Given the description of an element on the screen output the (x, y) to click on. 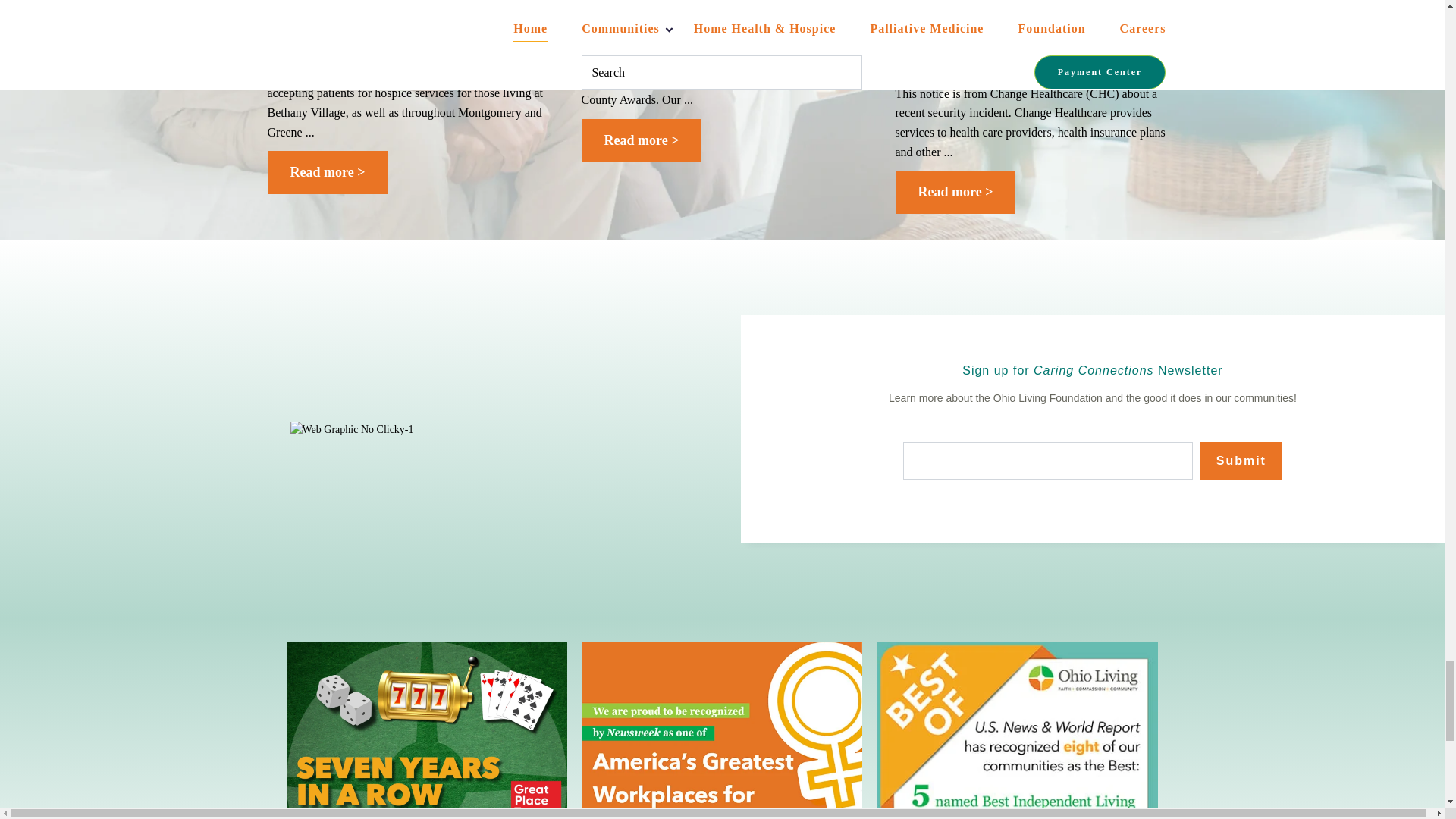
Web Graphic No Clicky-1 (351, 429)
Submit (1240, 460)
